Given the description of an element on the screen output the (x, y) to click on. 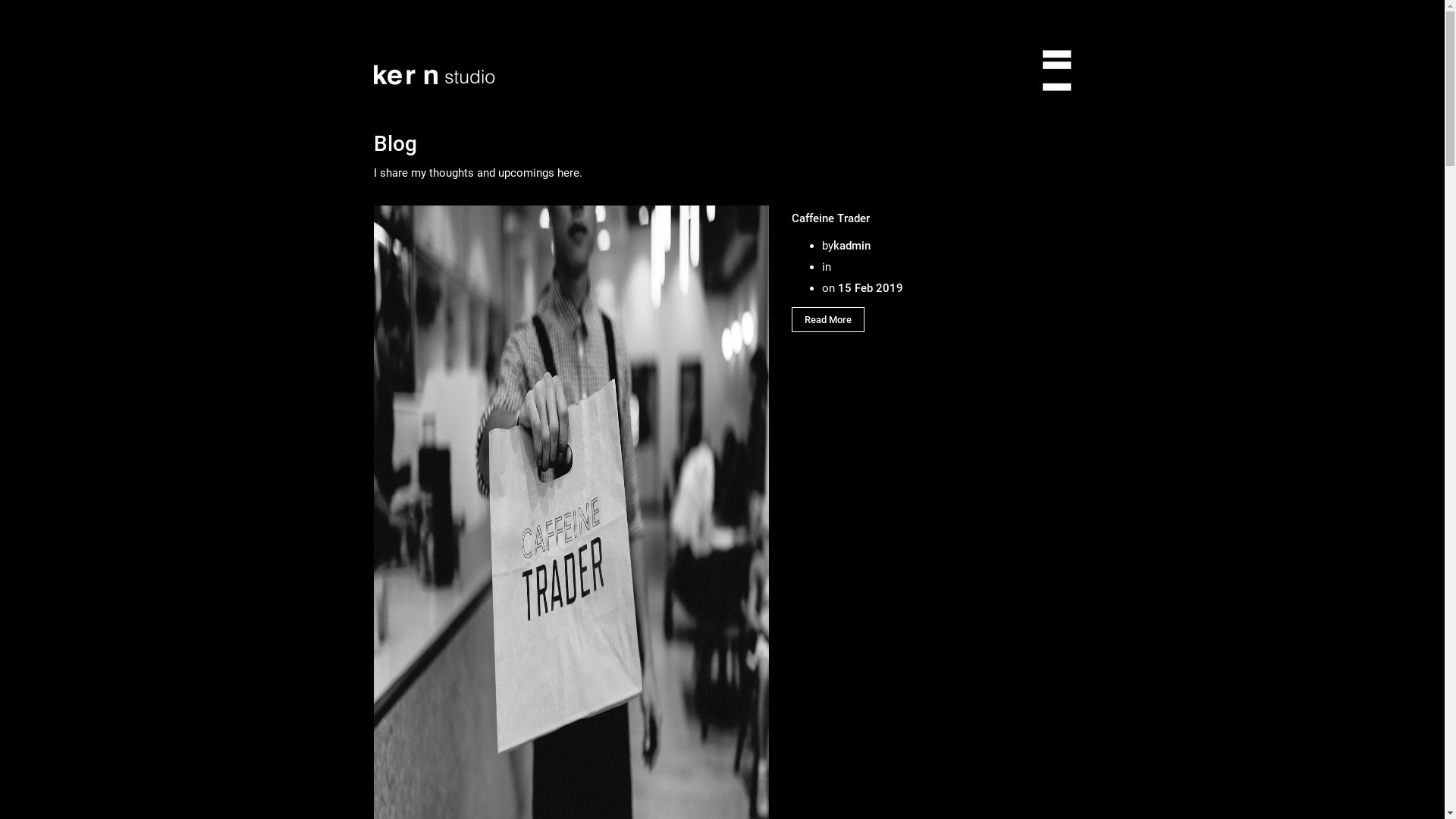
15 Feb 2019 Element type: text (868, 287)
kadmin Element type: text (851, 245)
Caffeine Trader Element type: text (830, 218)
Read More Element type: text (827, 319)
